Given the description of an element on the screen output the (x, y) to click on. 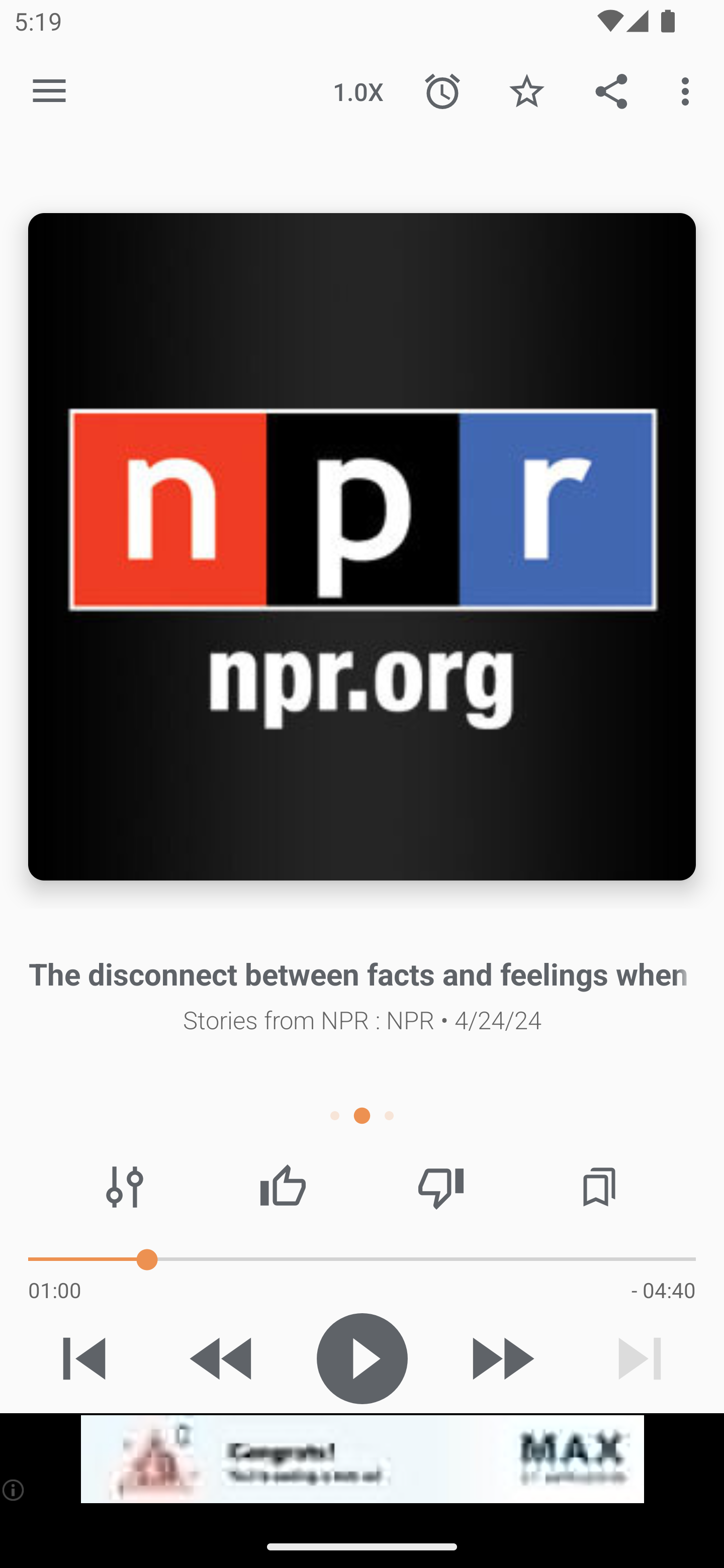
Open navigation sidebar (49, 91)
1.0X (357, 90)
Sleep Timer (442, 90)
Favorite (526, 90)
Share (611, 90)
More options (688, 90)
Episode description (361, 547)
Audio effects (124, 1186)
Thumbs up (283, 1186)
Thumbs down (440, 1186)
Chapters / Bookmarks (598, 1186)
- 04:40 (663, 1289)
Previous track (84, 1358)
Skip 15s backward (222, 1358)
Play / Pause (362, 1358)
Skip 30s forward (500, 1358)
Next track (639, 1358)
app-monetization (362, 1459)
(i) (14, 1489)
